Given the description of an element on the screen output the (x, y) to click on. 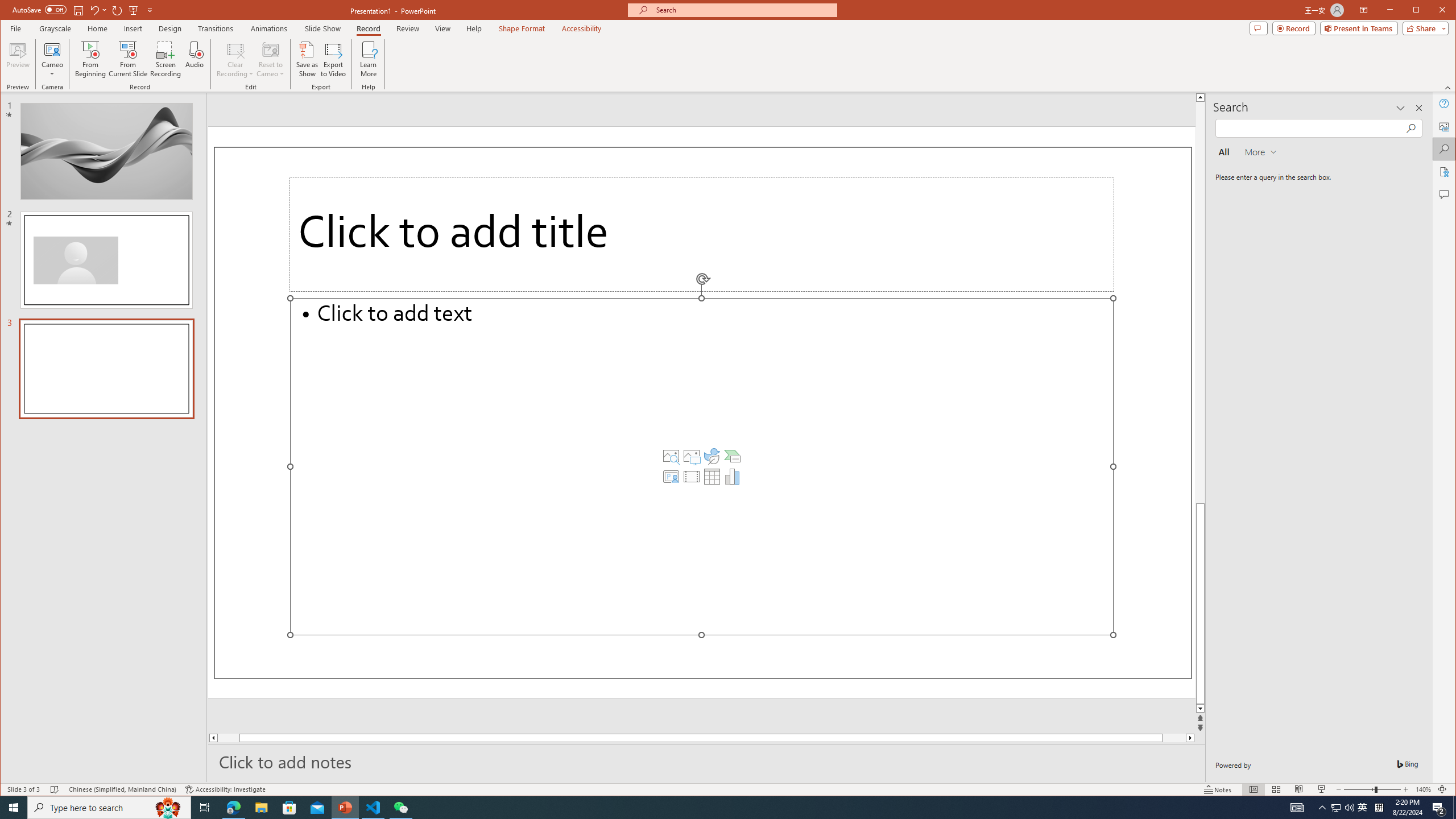
File Explorer (261, 807)
Comments (1444, 194)
Insert (133, 28)
Help (1444, 102)
Line down (1200, 709)
Ribbon Display Options (1364, 9)
Tray Input Indicator - Chinese (Simplified, China) (1378, 807)
Present in Teams (1358, 28)
Task View (1335, 807)
Pictures (204, 807)
PowerPoint - 1 running window (691, 456)
View (345, 807)
